Given the description of an element on the screen output the (x, y) to click on. 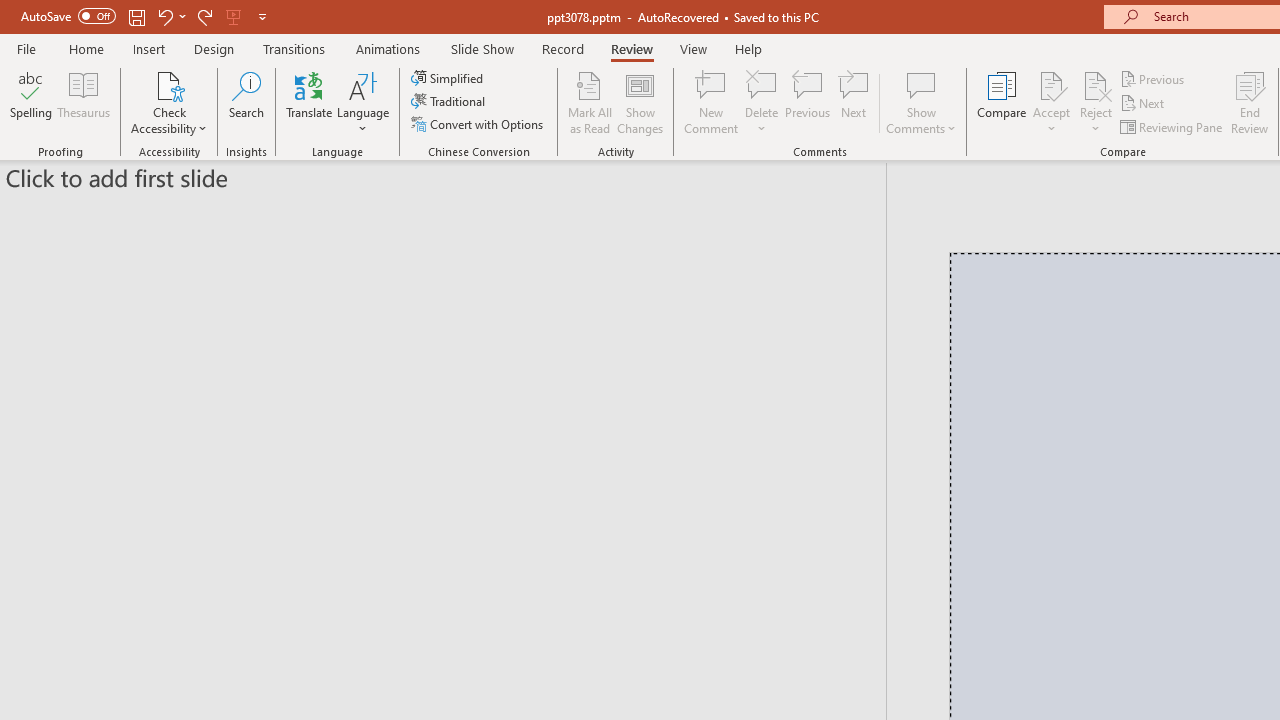
Simplified (449, 78)
Compare (1002, 102)
New Comment (711, 102)
Show Changes (639, 102)
Thesaurus... (83, 102)
Show Comments (921, 84)
Spelling... (31, 102)
Reject (1096, 102)
